Given the description of an element on the screen output the (x, y) to click on. 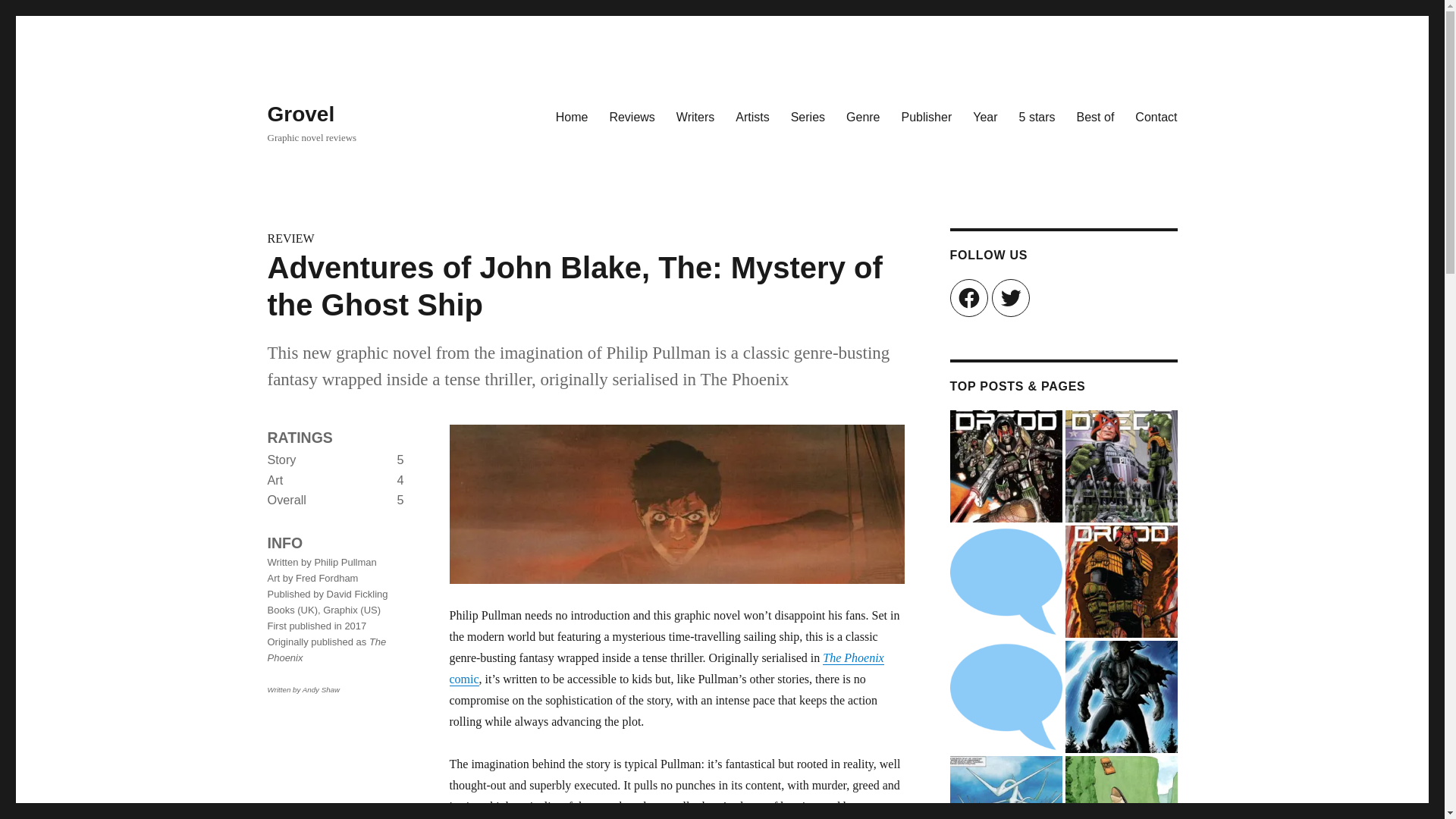
Artists (751, 116)
Judge Dredd: Control (1120, 466)
Year (984, 116)
Reviews (631, 116)
Best of (1095, 116)
Batman: Gothic (1005, 696)
Ghost in the Shell 1 (1005, 581)
Writers (695, 116)
Betelgeuse 2: The Caves (1120, 787)
Series (807, 116)
Aldebaran 3: The Creature (1005, 787)
Contact (1156, 116)
5 stars (1037, 116)
Facebook (968, 297)
Grovel (300, 114)
